Given the description of an element on the screen output the (x, y) to click on. 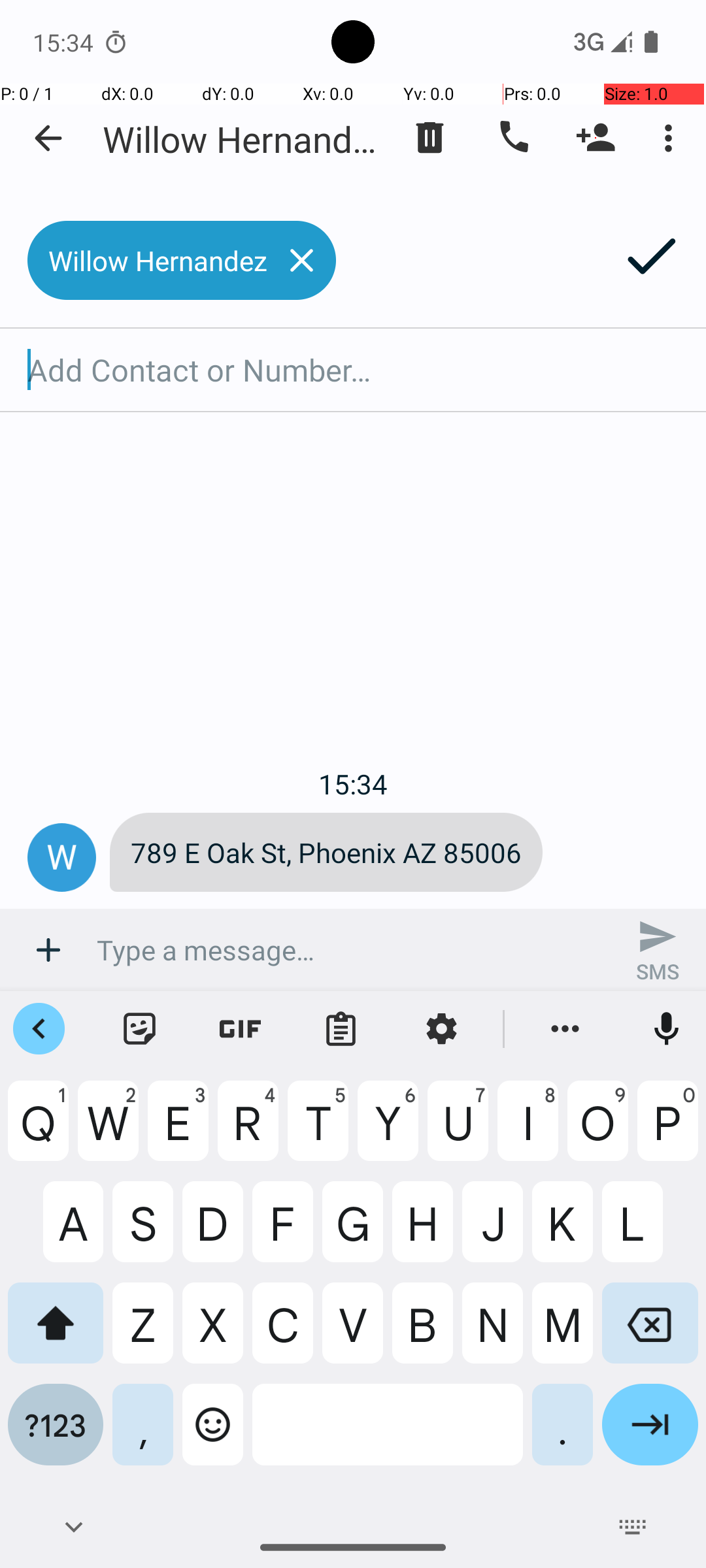
Willow Hernandez Element type: android.widget.TextView (241, 138)
789 E Oak St, Phoenix AZ 85006 Element type: android.widget.TextView (325, 851)
